Given the description of an element on the screen output the (x, y) to click on. 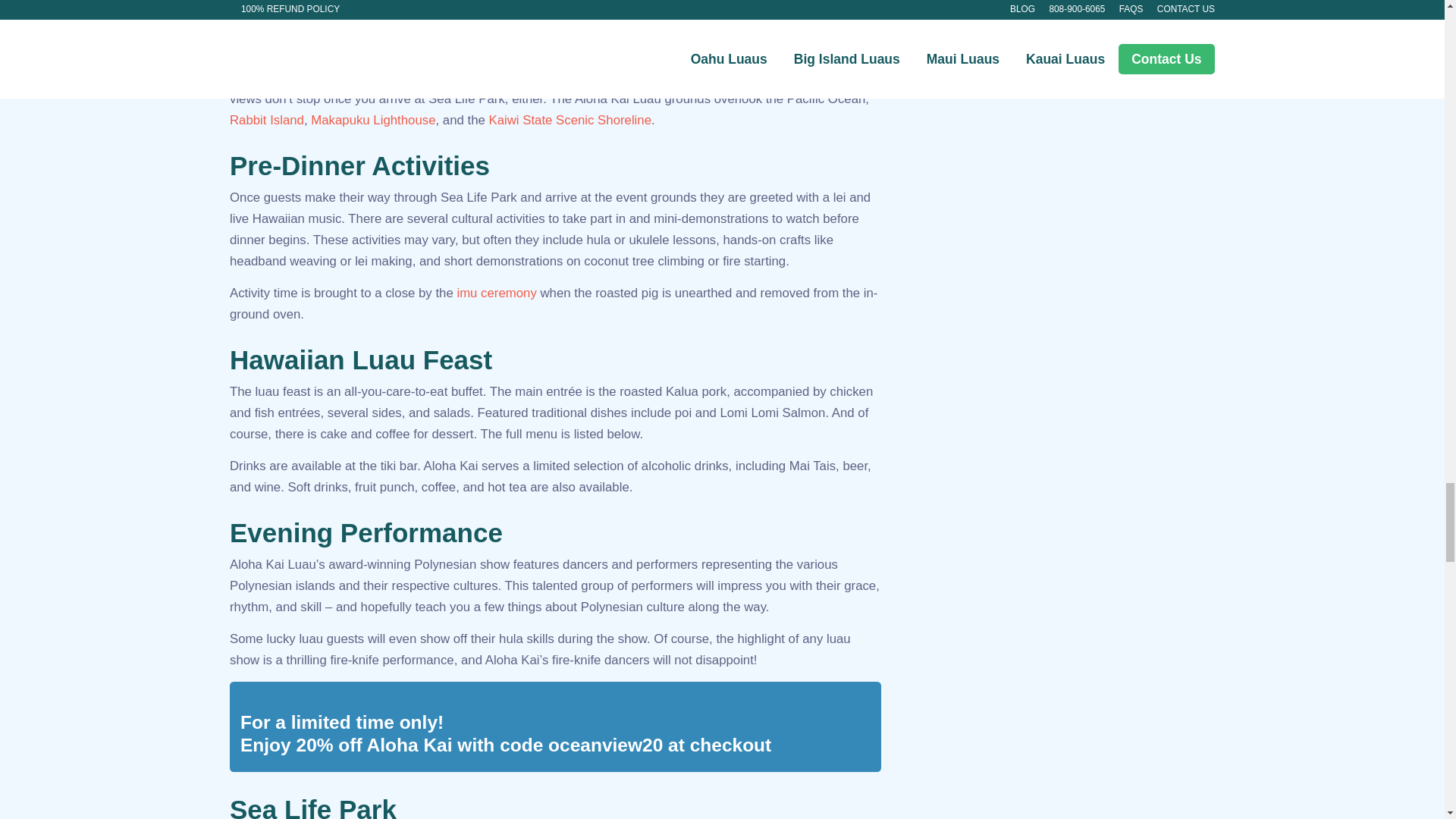
imu ceremony (496, 292)
Rabbit Island (267, 120)
Makapuku Lighthouse (373, 120)
Kaiwi State Scenic Shoreline (568, 120)
